Given the description of an element on the screen output the (x, y) to click on. 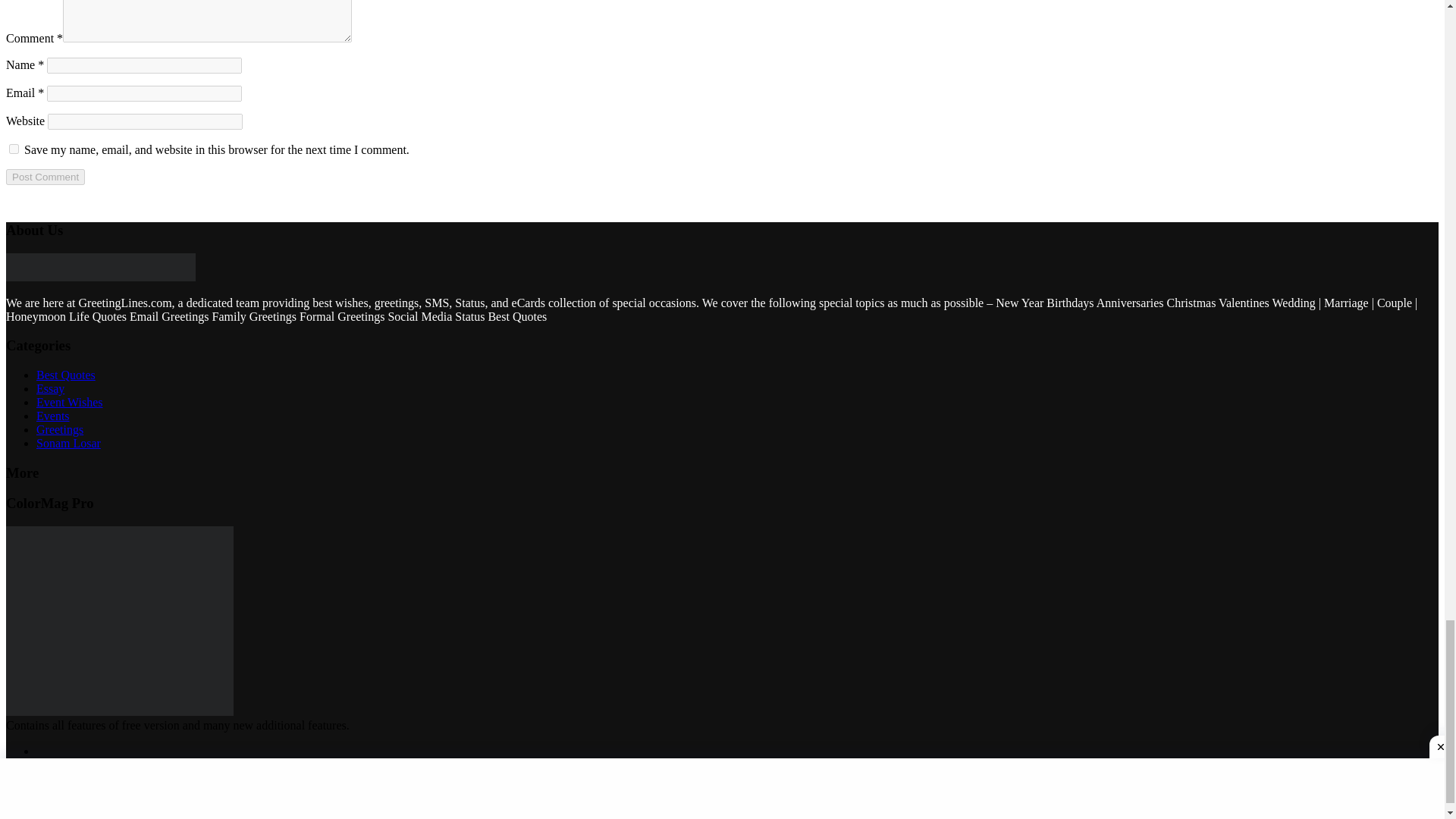
yes (13, 148)
Post Comment (44, 176)
